Given the description of an element on the screen output the (x, y) to click on. 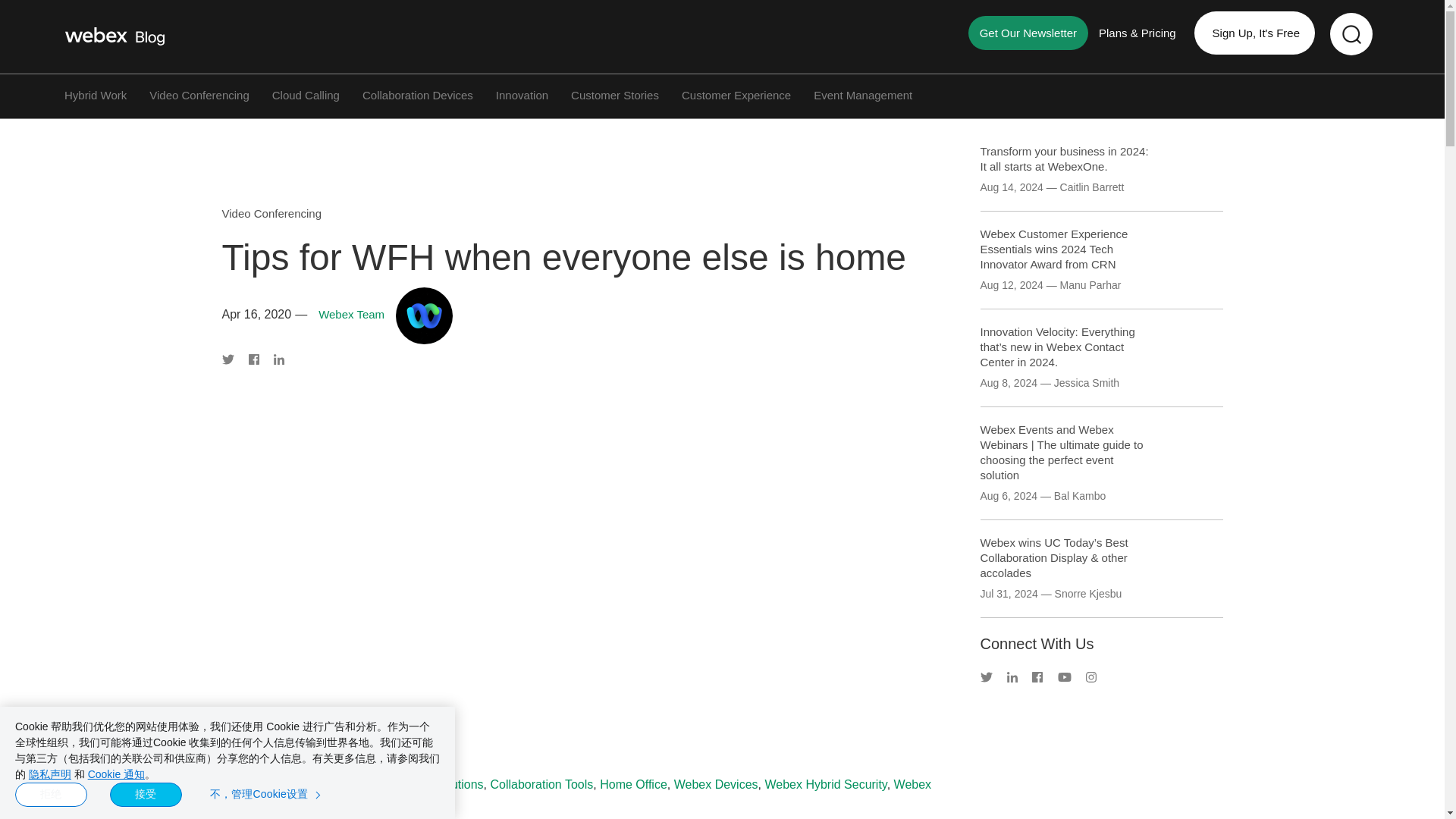
Collaboration Solutions (420, 784)
Webex Team (351, 314)
Home Office (632, 784)
Video Conferencing (198, 94)
Event Management (862, 94)
Webex Meetings (576, 791)
Innovation (522, 94)
Webex Devices (716, 784)
Hybrid Work (95, 94)
Video Conferencing (270, 213)
